Given the description of an element on the screen output the (x, y) to click on. 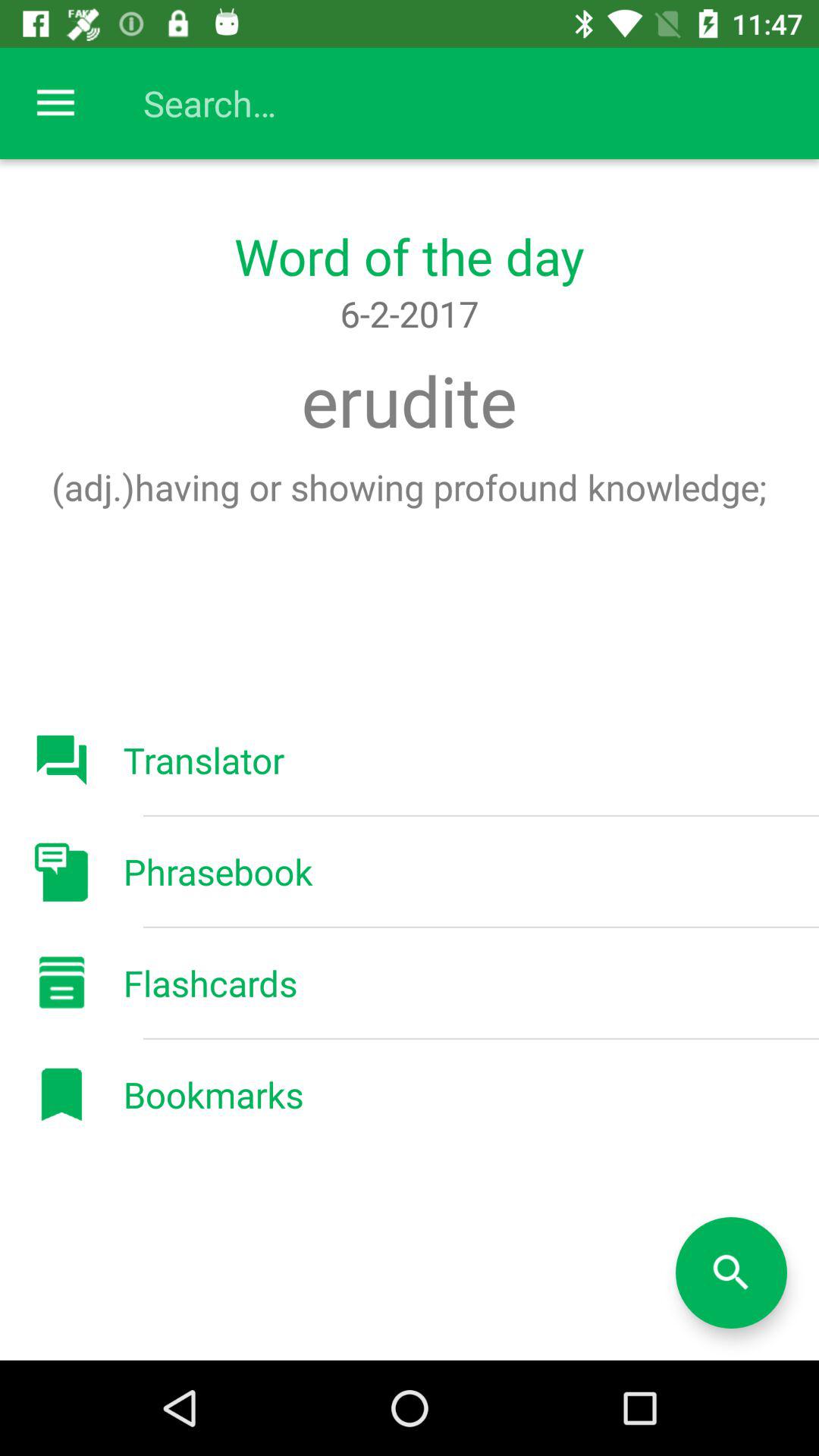
choose icon below 6 icon (408, 399)
